Given the description of an element on the screen output the (x, y) to click on. 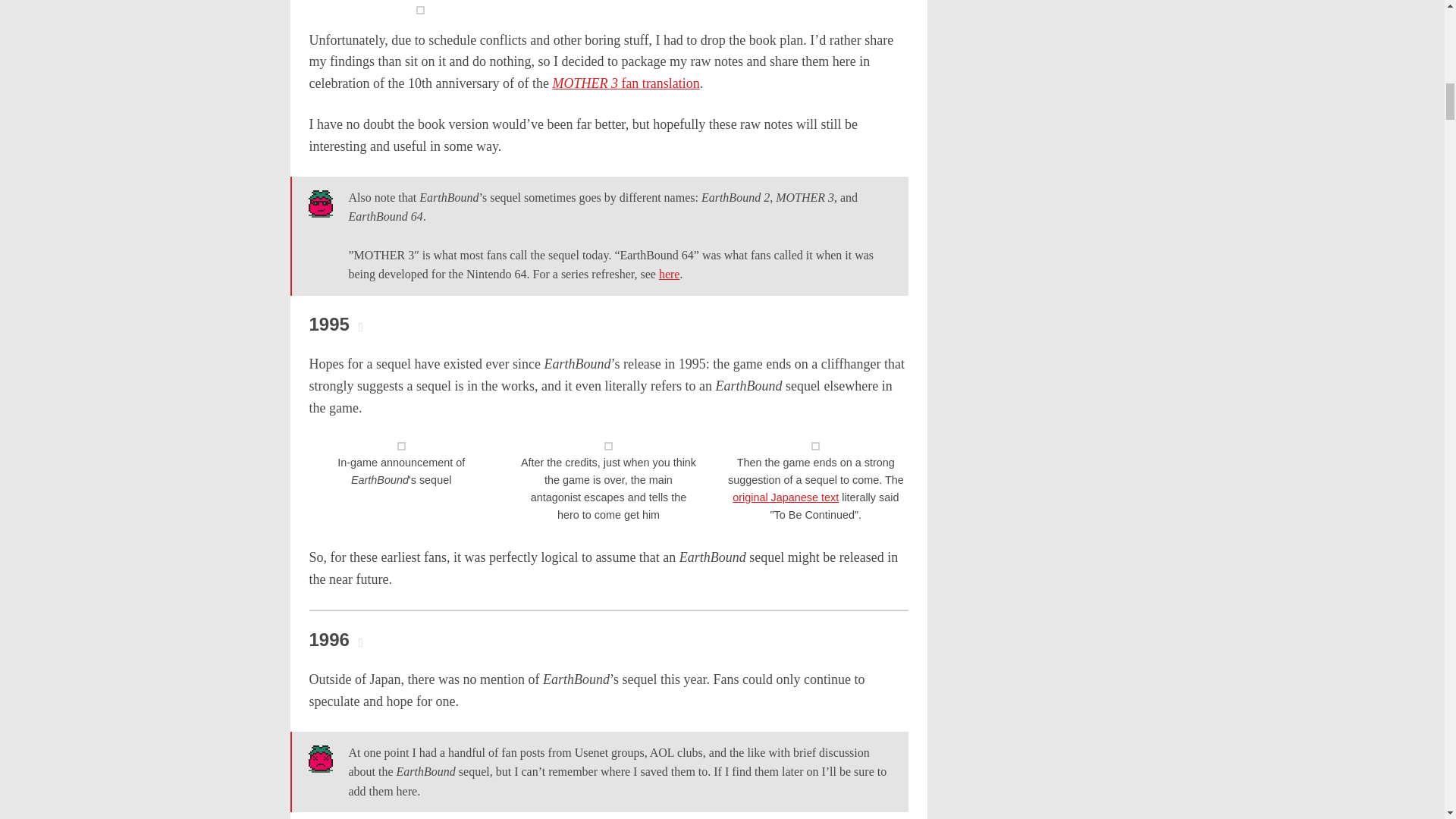
Link to this part (335, 323)
In-game announcement of EarthBound's sequel (401, 446)
